Given the description of an element on the screen output the (x, y) to click on. 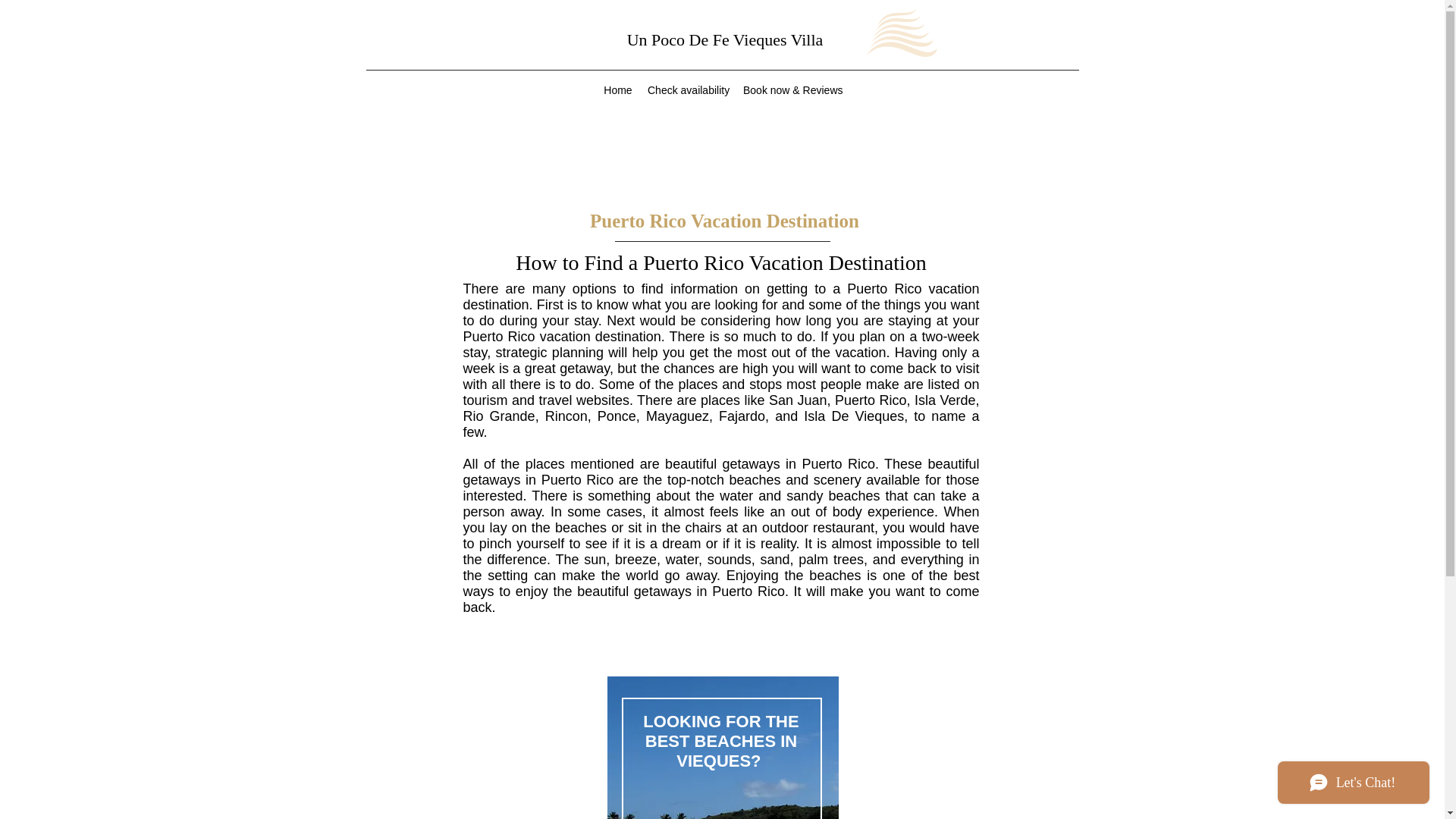
Check availability (687, 89)
Un Poco De Fe Vieques Villa (725, 39)
Home (617, 89)
